Given the description of an element on the screen output the (x, y) to click on. 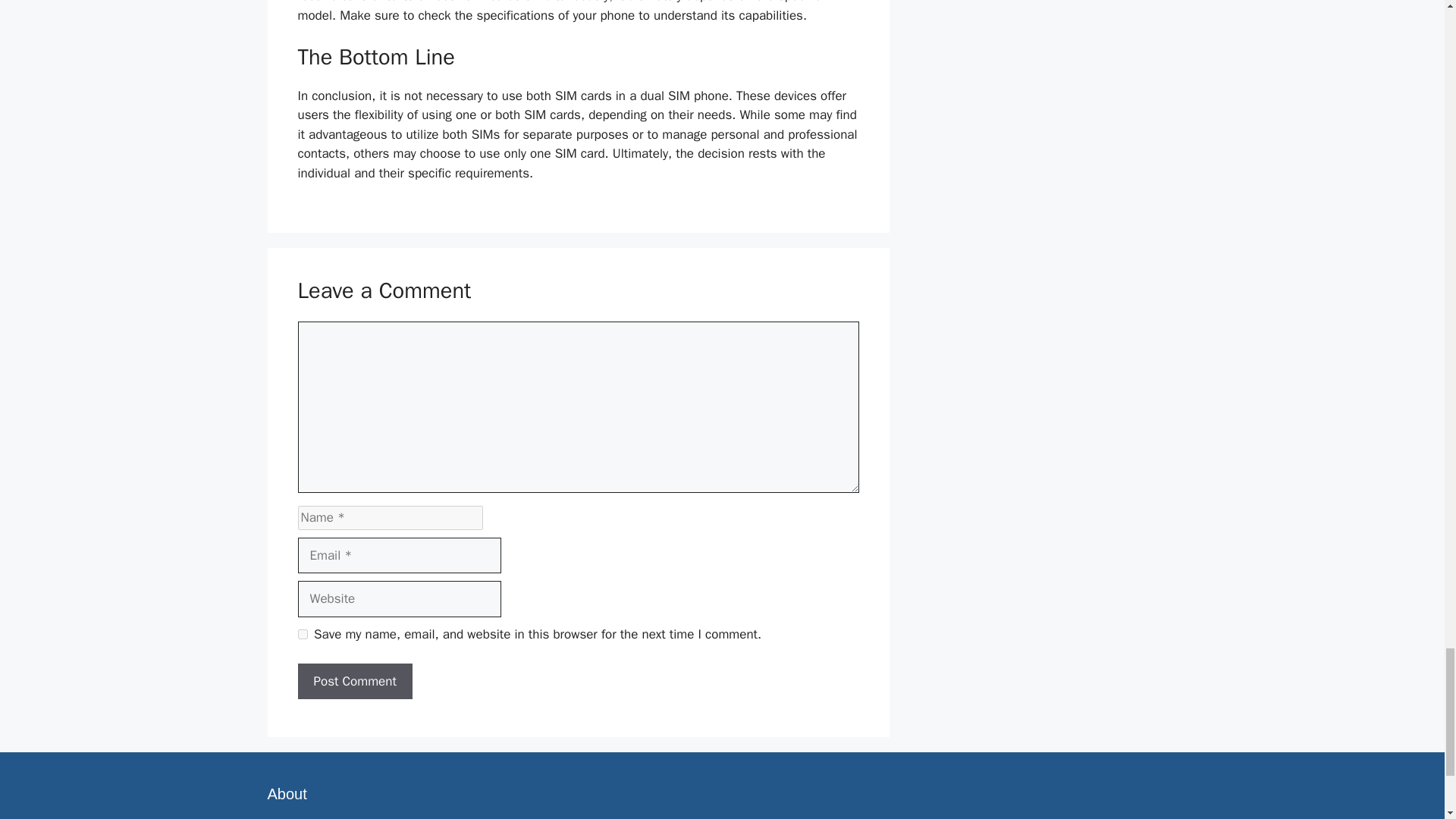
Post Comment (354, 681)
Post Comment (354, 681)
yes (302, 634)
